Given the description of an element on the screen output the (x, y) to click on. 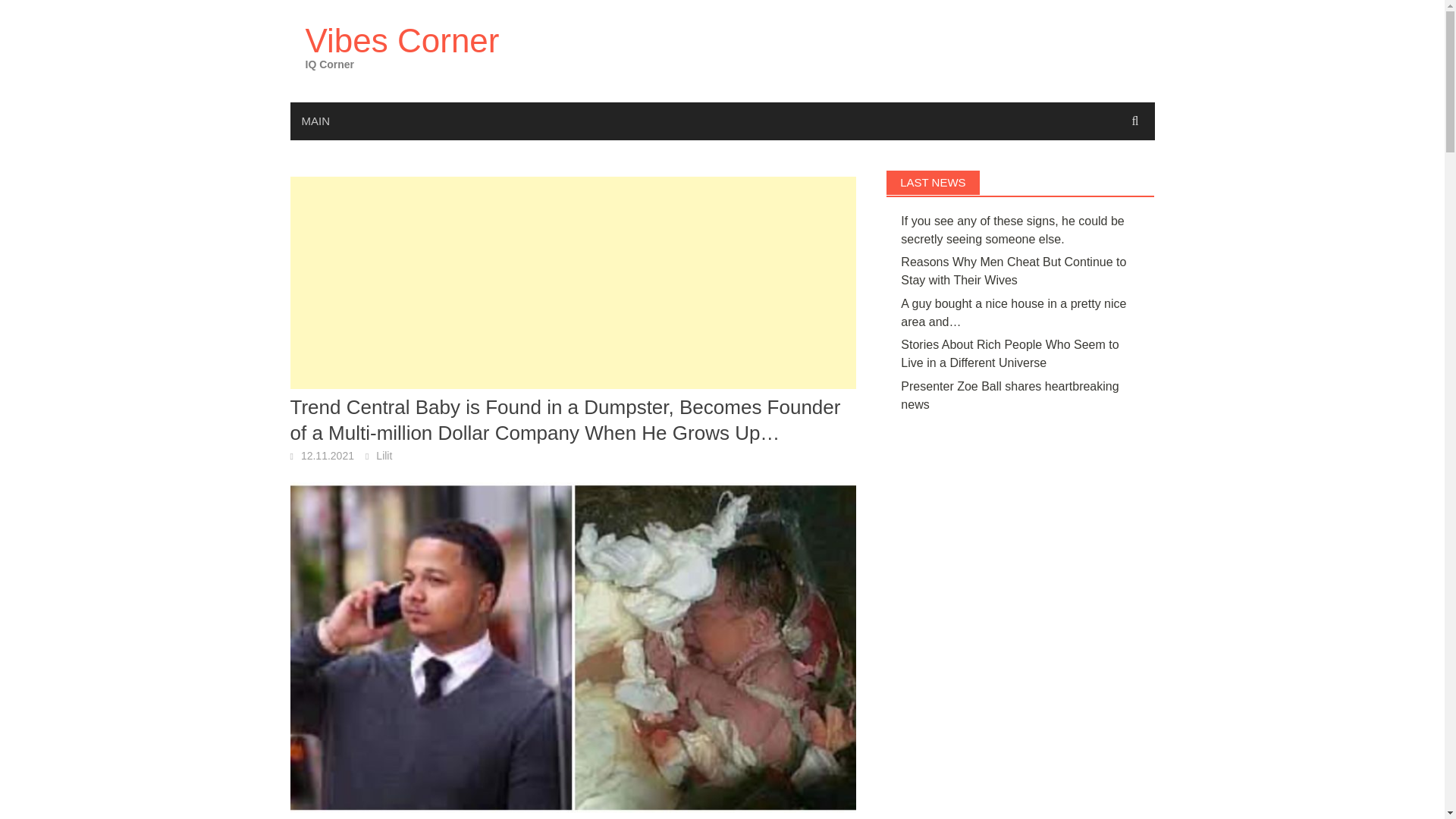
12.11.2021 (327, 455)
Reasons Why Men Cheat But Continue to Stay with Their Wives (1013, 270)
MAIN (314, 121)
Presenter Zoe Ball shares heartbreaking news (1009, 395)
Vibes Corner (401, 40)
Advertisement (572, 282)
Lilit (383, 455)
